Given the description of an element on the screen output the (x, y) to click on. 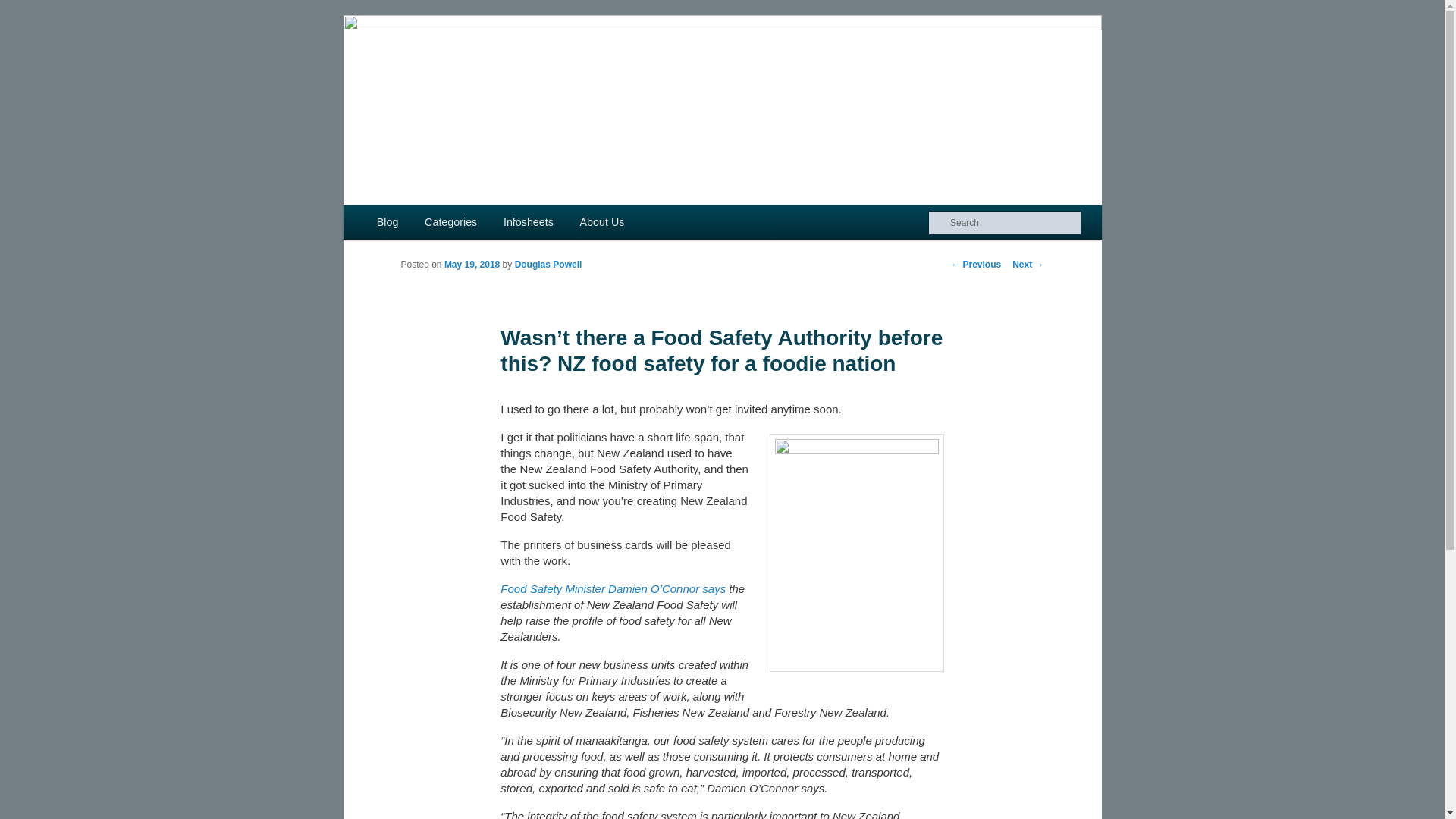
8:38 pm (471, 264)
Skip to primary content (414, 223)
Infosheets (528, 221)
Blog (388, 221)
Skip to primary content (414, 223)
About Us (601, 221)
May 19, 2018 (471, 264)
Skip to secondary content (421, 223)
Skip to secondary content (421, 223)
Search (24, 8)
